Given the description of an element on the screen output the (x, y) to click on. 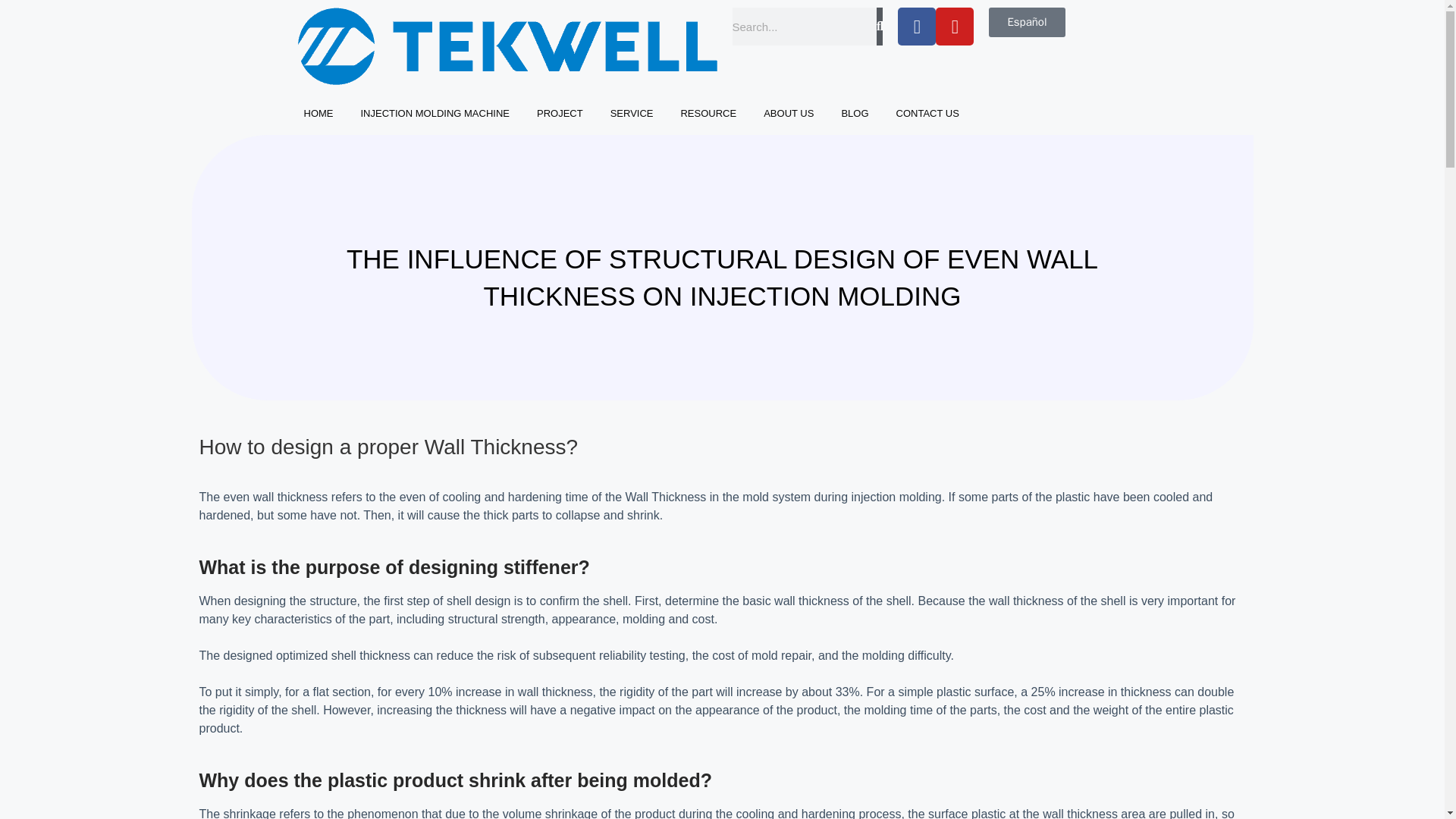
SERVICE (631, 113)
INJECTION MOLDING MACHINE (434, 113)
HOME (317, 113)
PROJECT (559, 113)
